Given the description of an element on the screen output the (x, y) to click on. 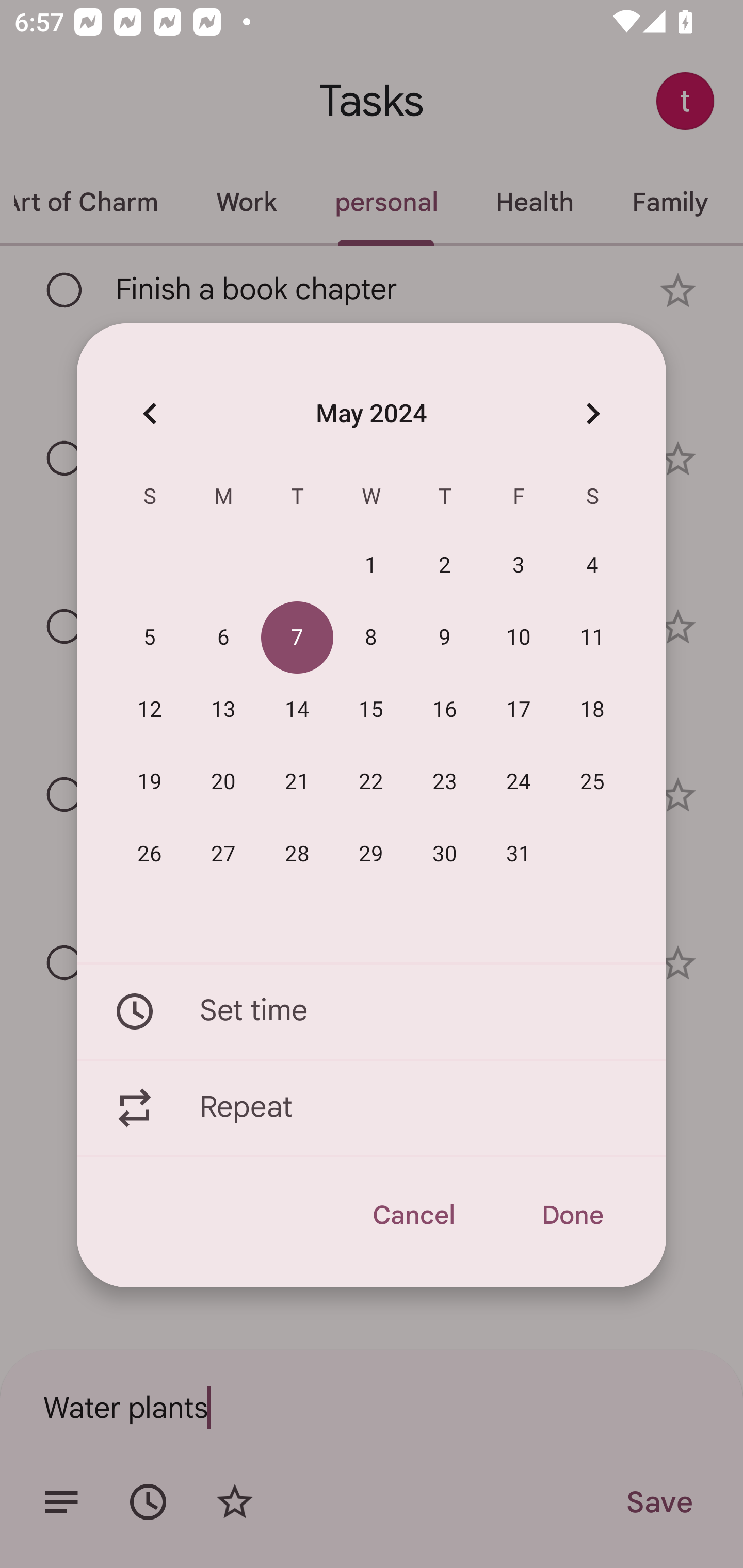
Previous month (149, 413)
Next month (592, 413)
1 01 May 2024 (370, 565)
2 02 May 2024 (444, 565)
3 03 May 2024 (518, 565)
4 04 May 2024 (592, 565)
5 05 May 2024 (149, 638)
6 06 May 2024 (223, 638)
7 07 May 2024 (297, 638)
8 08 May 2024 (370, 638)
9 09 May 2024 (444, 638)
10 10 May 2024 (518, 638)
11 11 May 2024 (592, 638)
12 12 May 2024 (149, 710)
13 13 May 2024 (223, 710)
14 14 May 2024 (297, 710)
15 15 May 2024 (370, 710)
16 16 May 2024 (444, 710)
17 17 May 2024 (518, 710)
18 18 May 2024 (592, 710)
19 19 May 2024 (149, 782)
20 20 May 2024 (223, 782)
21 21 May 2024 (297, 782)
22 22 May 2024 (370, 782)
23 23 May 2024 (444, 782)
24 24 May 2024 (518, 782)
25 25 May 2024 (592, 782)
26 26 May 2024 (149, 854)
27 27 May 2024 (223, 854)
28 28 May 2024 (297, 854)
29 29 May 2024 (370, 854)
30 30 May 2024 (444, 854)
31 31 May 2024 (518, 854)
Set time (371, 1011)
Repeat (371, 1108)
Cancel (412, 1215)
Done (571, 1215)
